Given the description of an element on the screen output the (x, y) to click on. 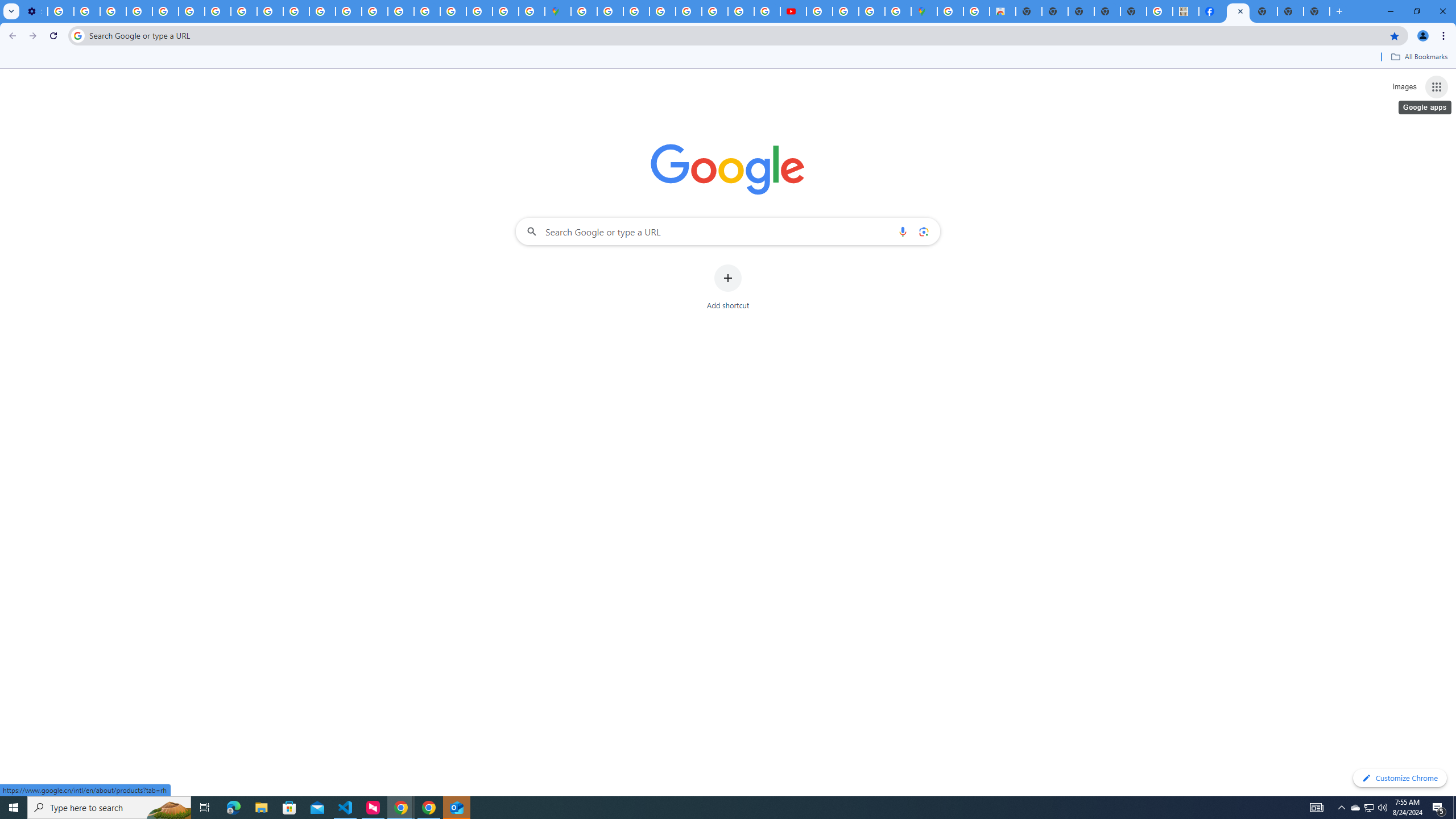
Google Maps (923, 11)
Sign in - Google Accounts (453, 11)
New Tab (1316, 11)
